Given the description of an element on the screen output the (x, y) to click on. 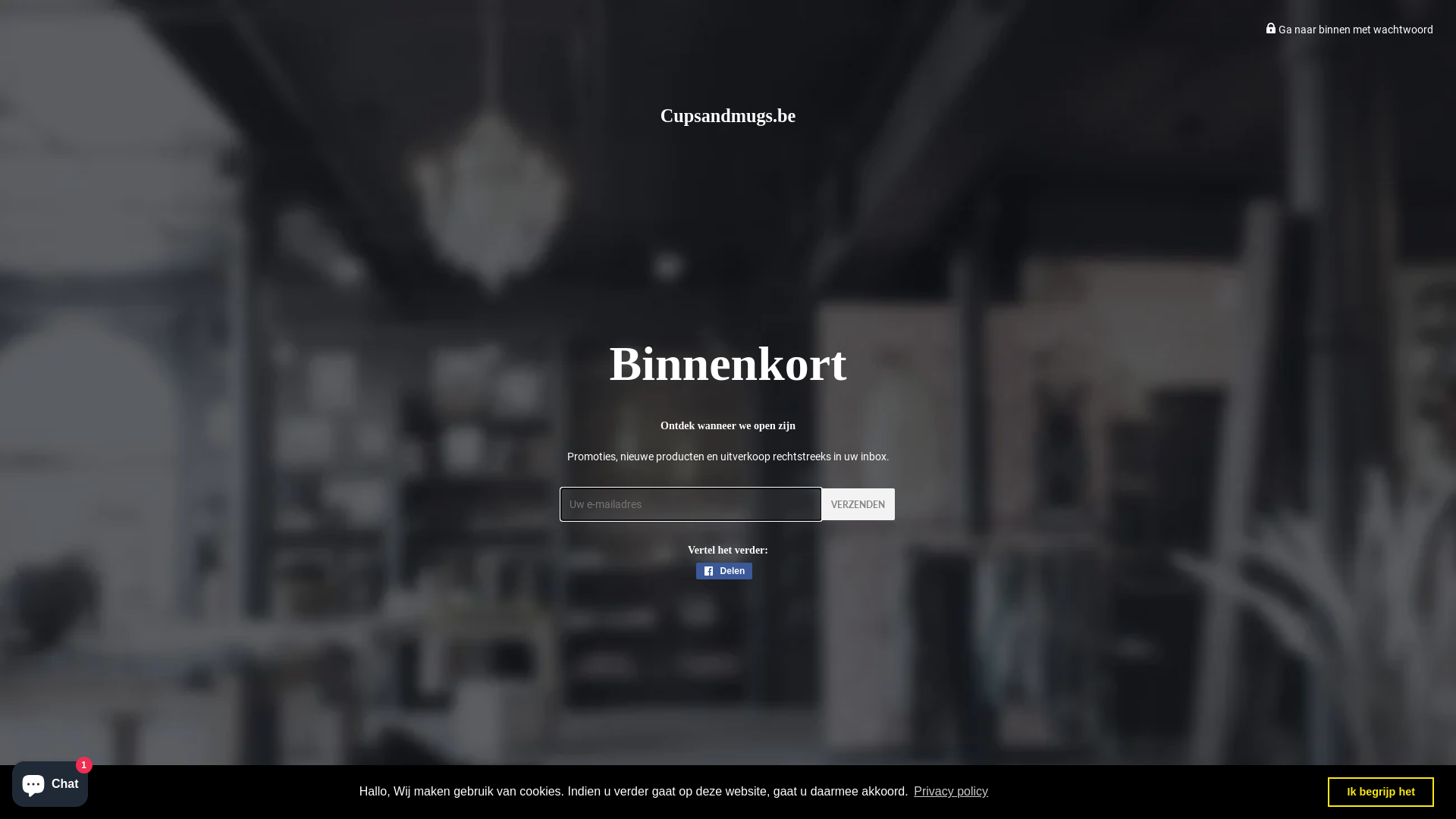
Lock icon Ga naar binnen met wachtwoord Element type: text (1349, 29)
Privacy policy Element type: text (950, 791)
Onlinewinkel-chat van Shopify Element type: hover (49, 780)
Verzenden Element type: text (857, 504)
Delen
Delen op Facebook Element type: text (724, 570)
Shopify logo Shopify Element type: text (751, 787)
Ik begrijp het Element type: text (1380, 791)
